Given the description of an element on the screen output the (x, y) to click on. 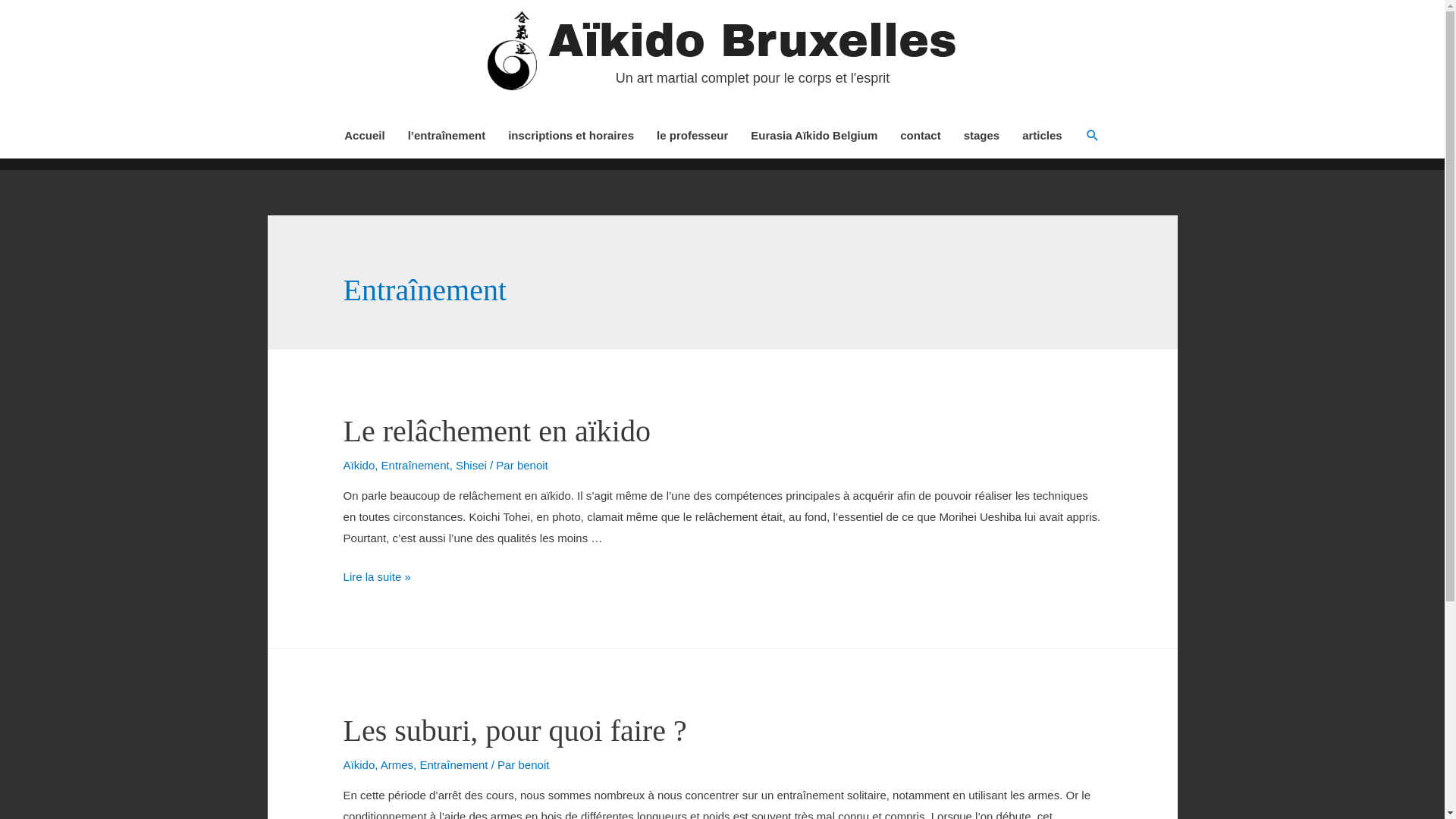
inscriptions et horaires Element type: text (570, 135)
Les suburi, pour quoi faire ? Element type: text (515, 730)
Rechercher Element type: text (37, 14)
Armes Element type: text (396, 764)
articles Element type: text (1041, 135)
Accueil Element type: text (363, 135)
Rechercher Element type: text (1092, 135)
le professeur Element type: text (692, 135)
Shisei Element type: text (470, 464)
benoit Element type: text (533, 764)
contact Element type: text (919, 135)
stages Element type: text (981, 135)
benoit Element type: text (532, 464)
